Given the description of an element on the screen output the (x, y) to click on. 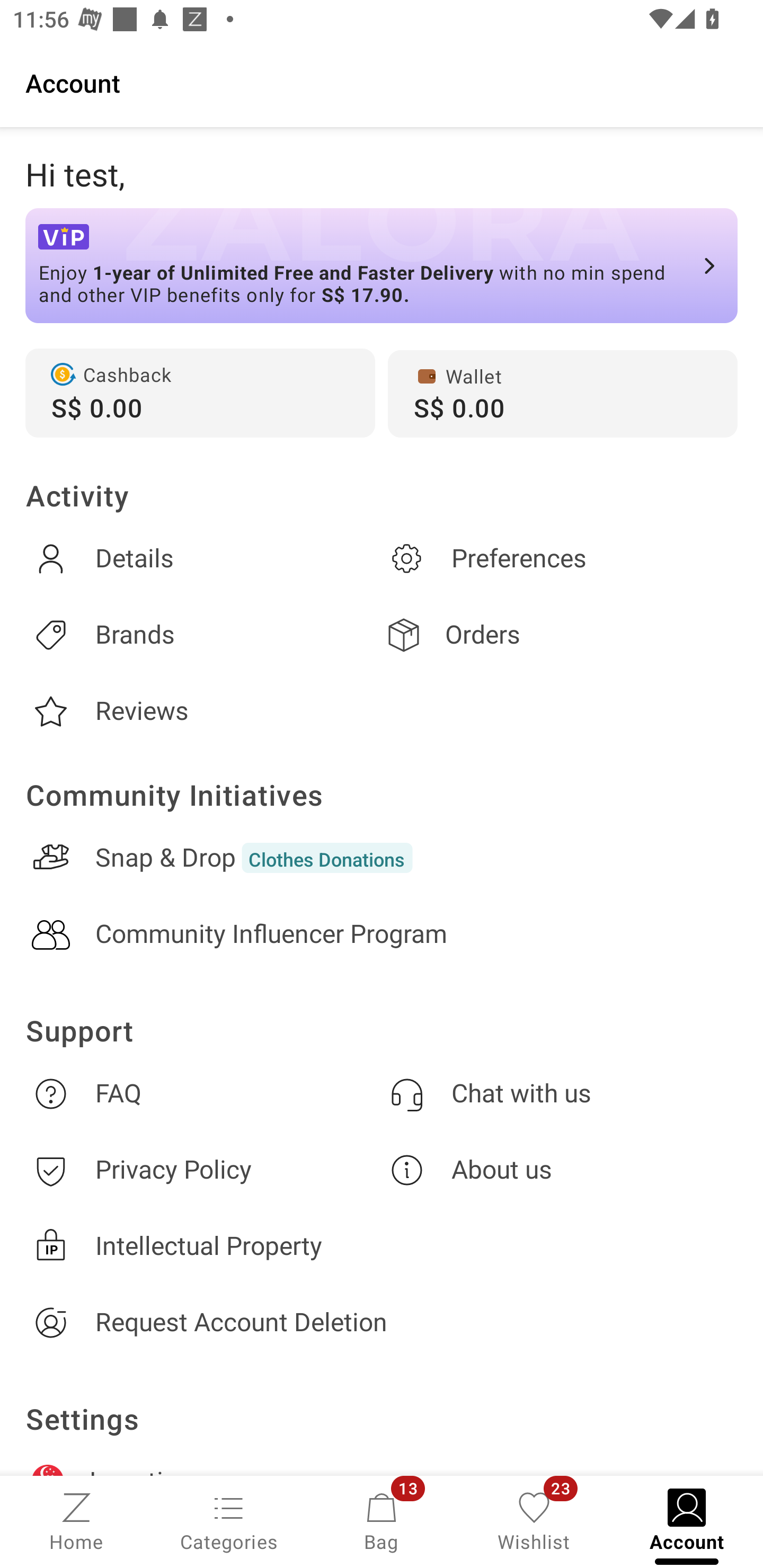
Account (381, 82)
Details (203, 558)
Preferences (559, 558)
Brands (203, 634)
Orders (559, 634)
Reviews (203, 710)
Snap & DropClothes Donations (381, 858)
Community Influencer Program (381, 934)
FAQ (203, 1093)
Chat with us (559, 1093)
Privacy Policy (203, 1170)
About us (559, 1170)
Intellectual Property (381, 1246)
Request Account Deletion (381, 1322)
Home (76, 1519)
Categories (228, 1519)
Bag, 13 new notifications Bag (381, 1519)
Wishlist, 23 new notifications Wishlist (533, 1519)
